Given the description of an element on the screen output the (x, y) to click on. 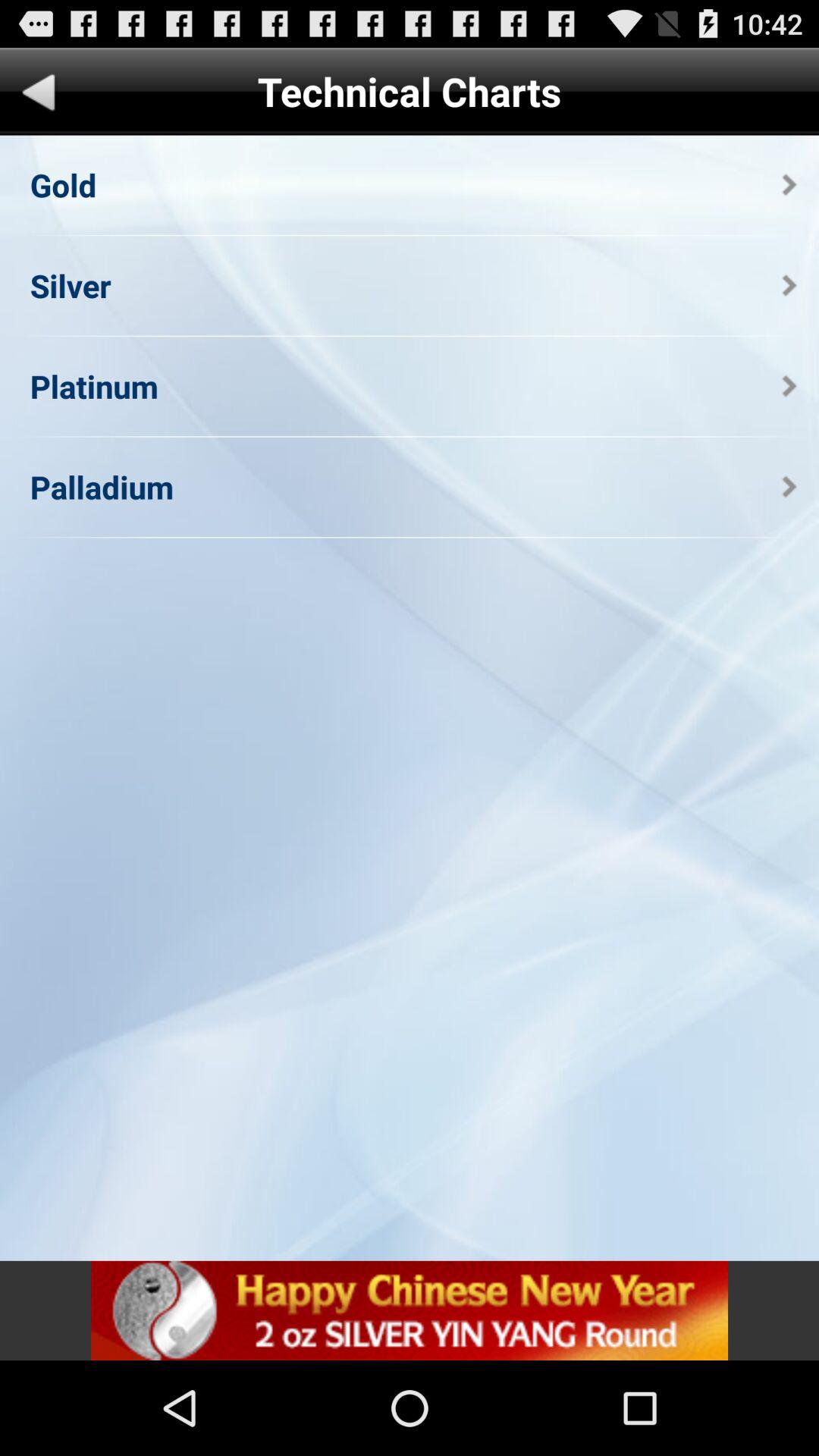
turn on icon below platinum app (101, 486)
